Given the description of an element on the screen output the (x, y) to click on. 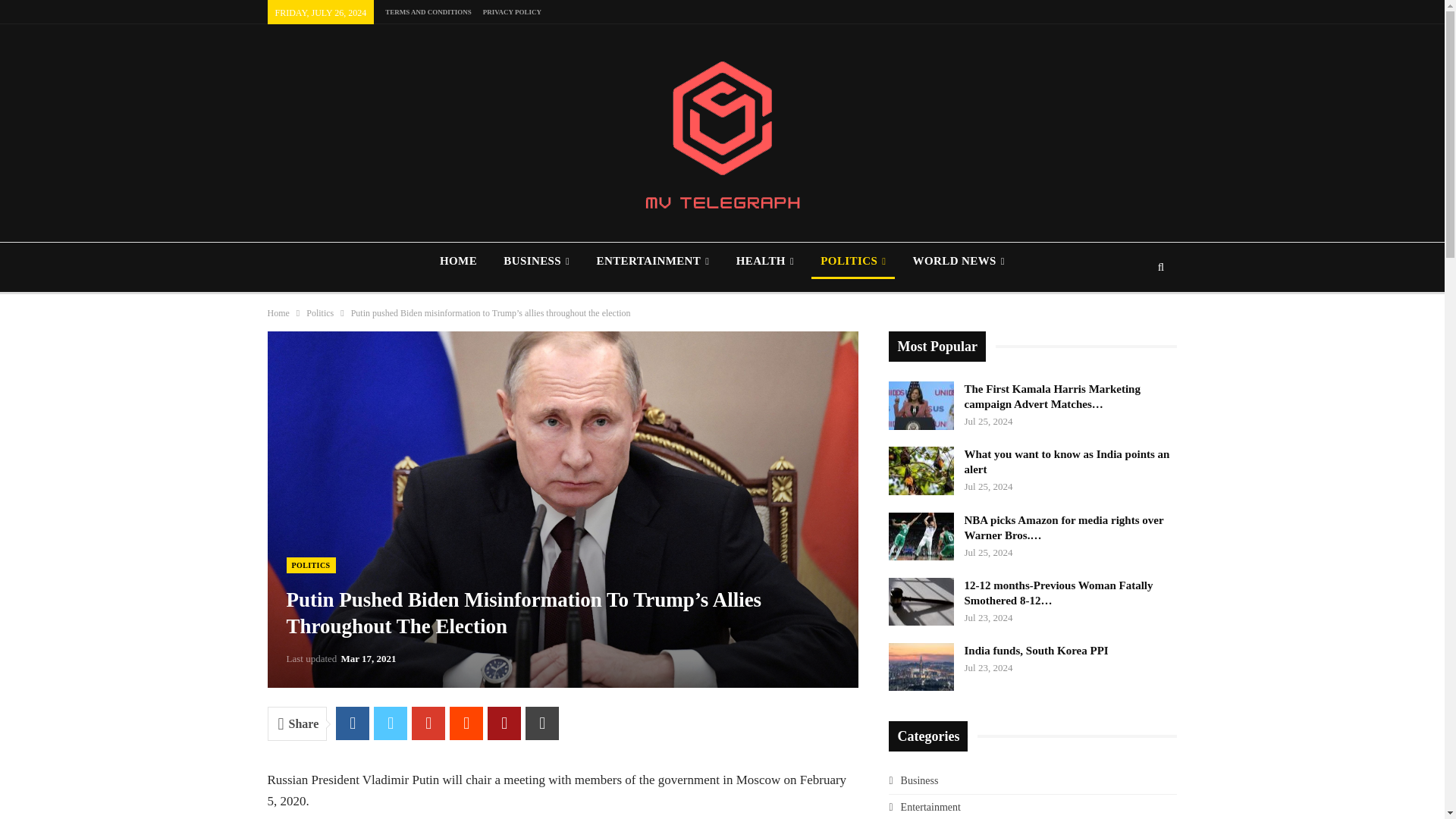
HOME (458, 260)
BUSINESS (536, 260)
TERMS AND CONDITIONS (428, 11)
PRIVACY POLICY (512, 11)
ENTERTAINMENT (651, 260)
HEALTH (764, 260)
